Given the description of an element on the screen output the (x, y) to click on. 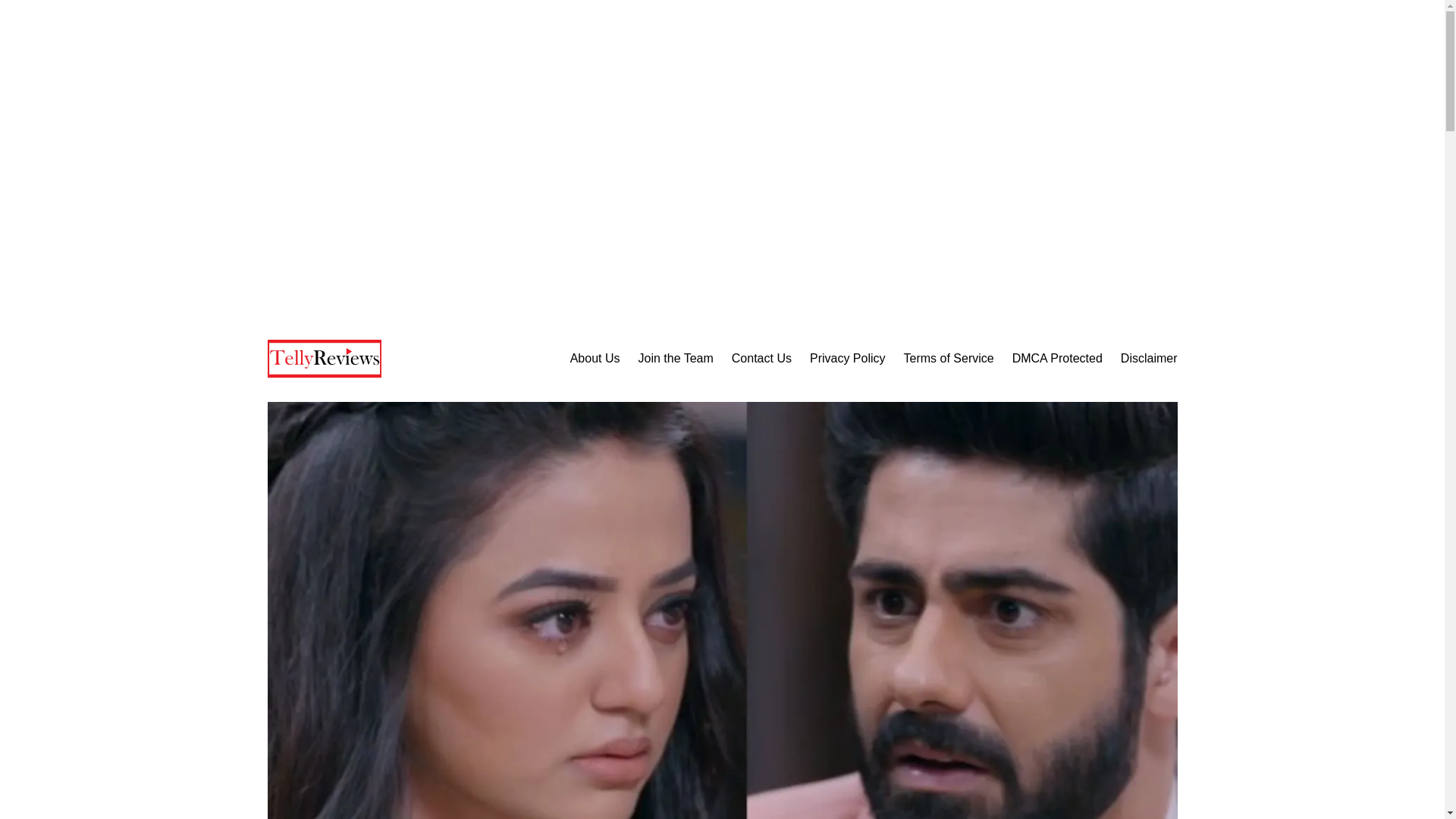
Privacy Policy (847, 358)
Contact Us (762, 358)
DMCA Protected (1056, 358)
Join the Team (675, 358)
Terms of Service (949, 358)
Disclaimer (1149, 358)
About Us (595, 358)
